Given the description of an element on the screen output the (x, y) to click on. 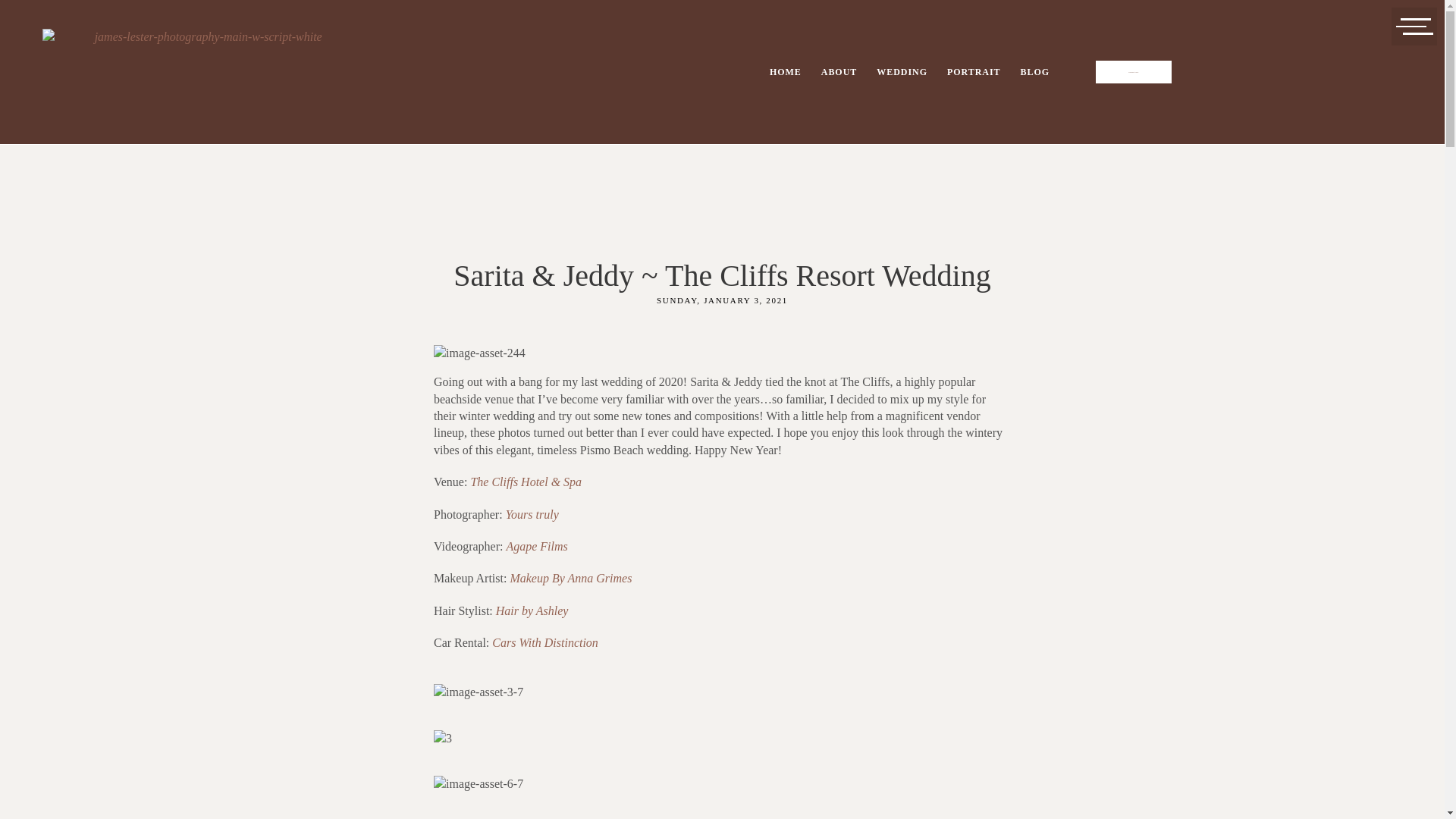
BLOG (1034, 71)
Hair by Ashley (532, 610)
CONTACT (1134, 71)
WEDDING (901, 71)
ABOUT (839, 71)
HOME (786, 71)
Agape Films (536, 545)
PORTRAIT (974, 71)
Yours truly (532, 513)
Cars With Distinction (545, 642)
Makeup By Anna Grimes  (571, 577)
